Given the description of an element on the screen output the (x, y) to click on. 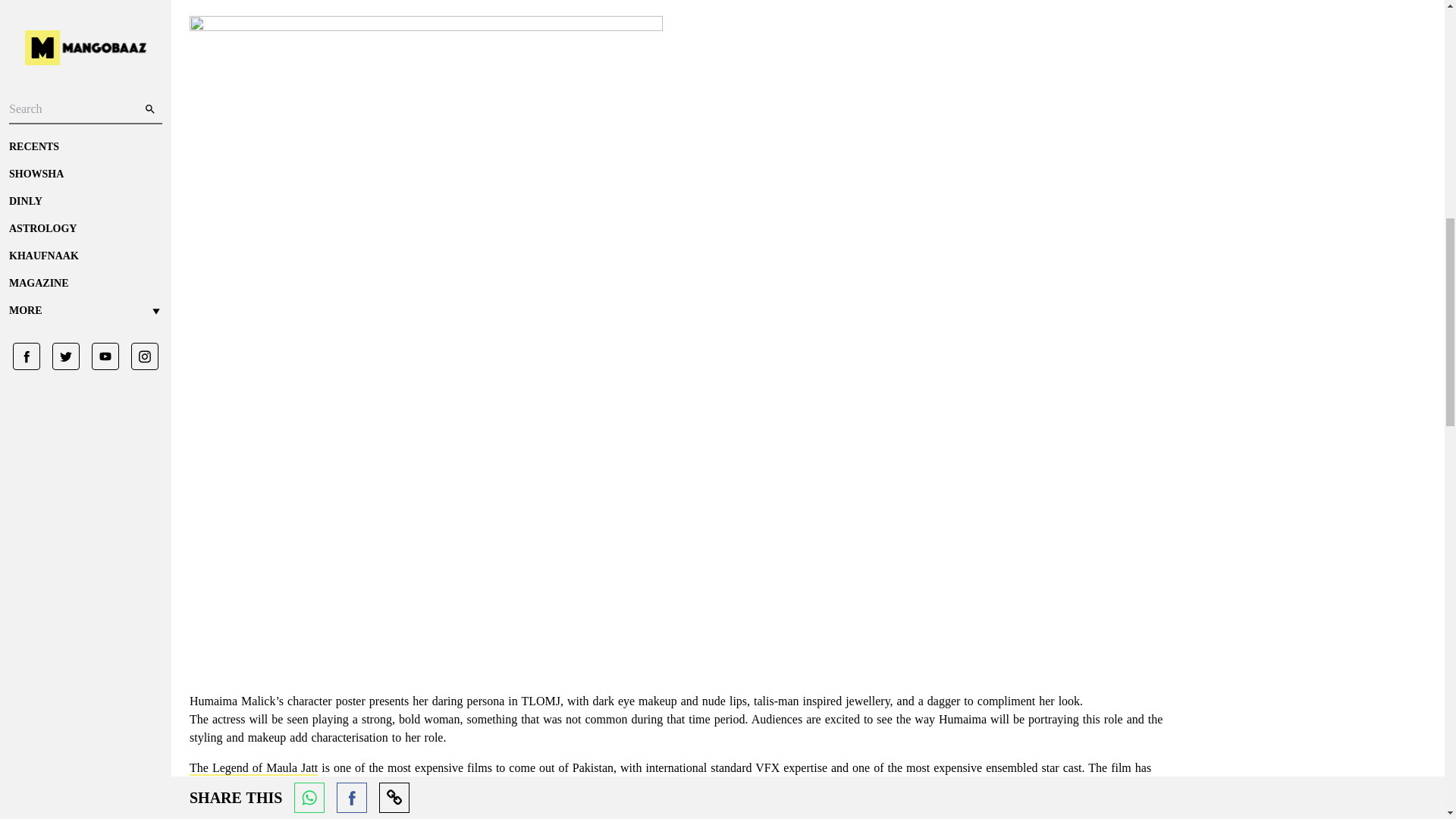
The Legend of Maula Jatt (253, 768)
